Given the description of an element on the screen output the (x, y) to click on. 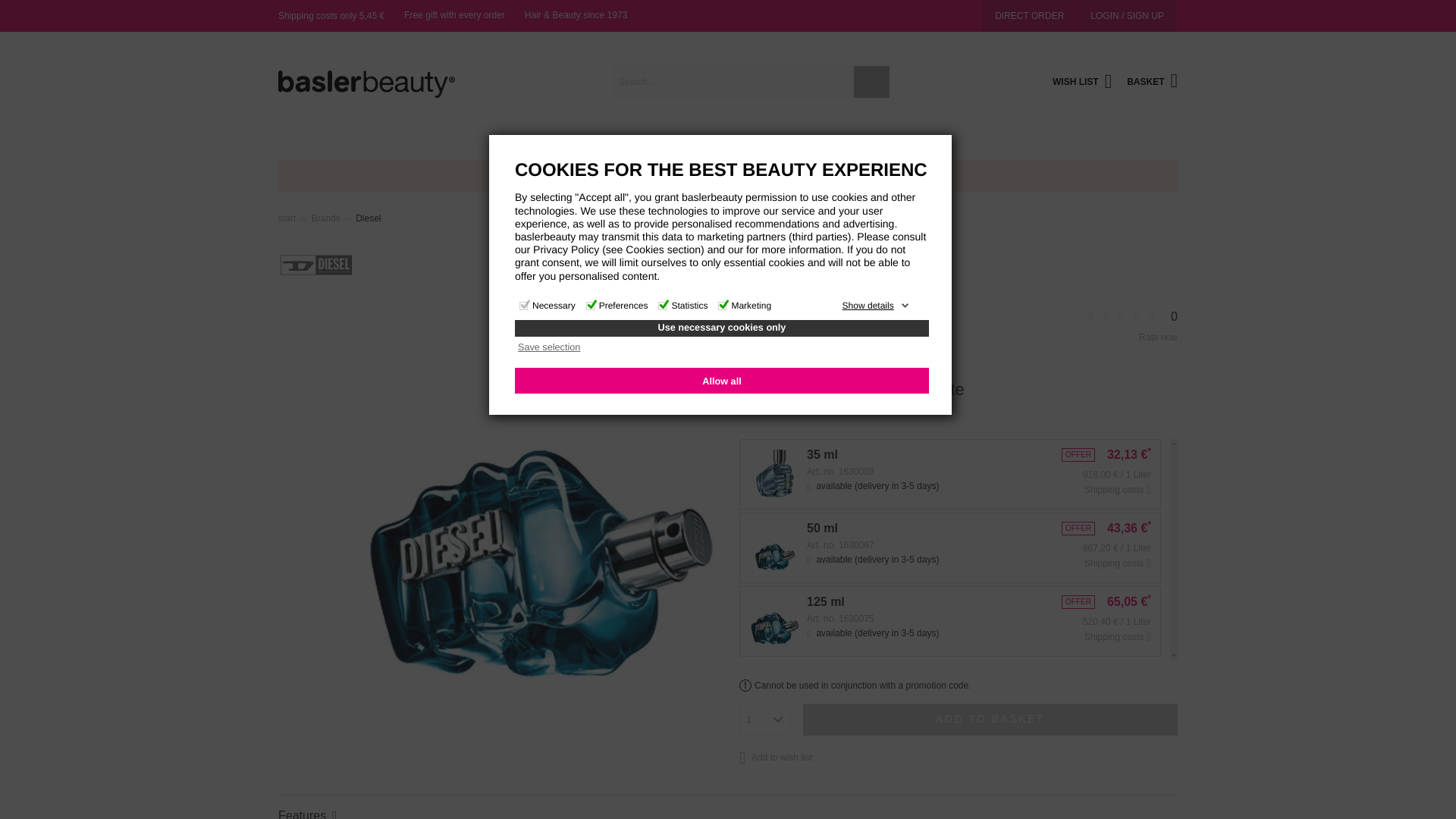
Save selection (721, 348)
Show details (876, 305)
Use necessary cookies only (721, 328)
Allow all (721, 380)
